Given the description of an element on the screen output the (x, y) to click on. 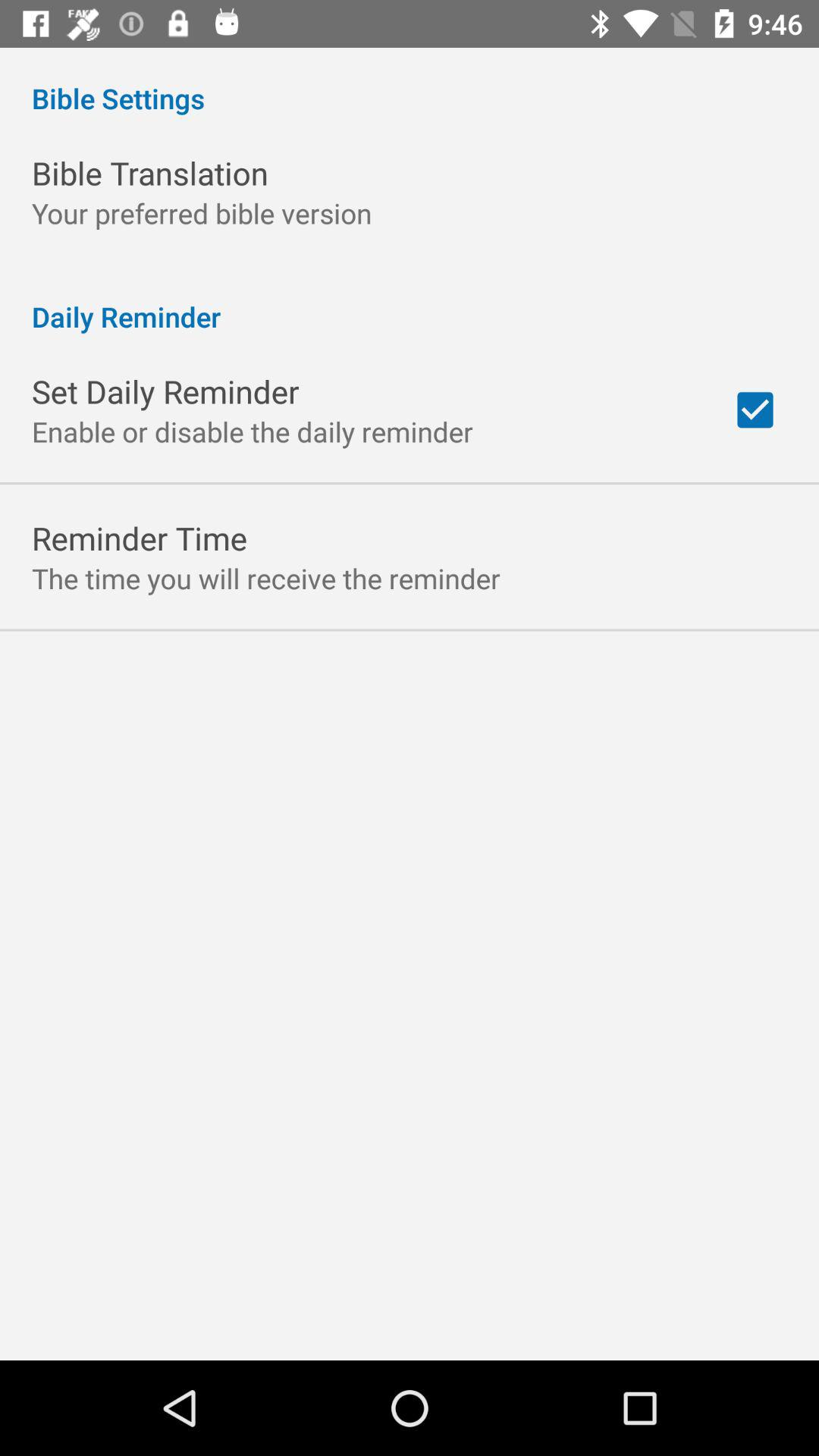
open icon below bible translation icon (201, 213)
